Given the description of an element on the screen output the (x, y) to click on. 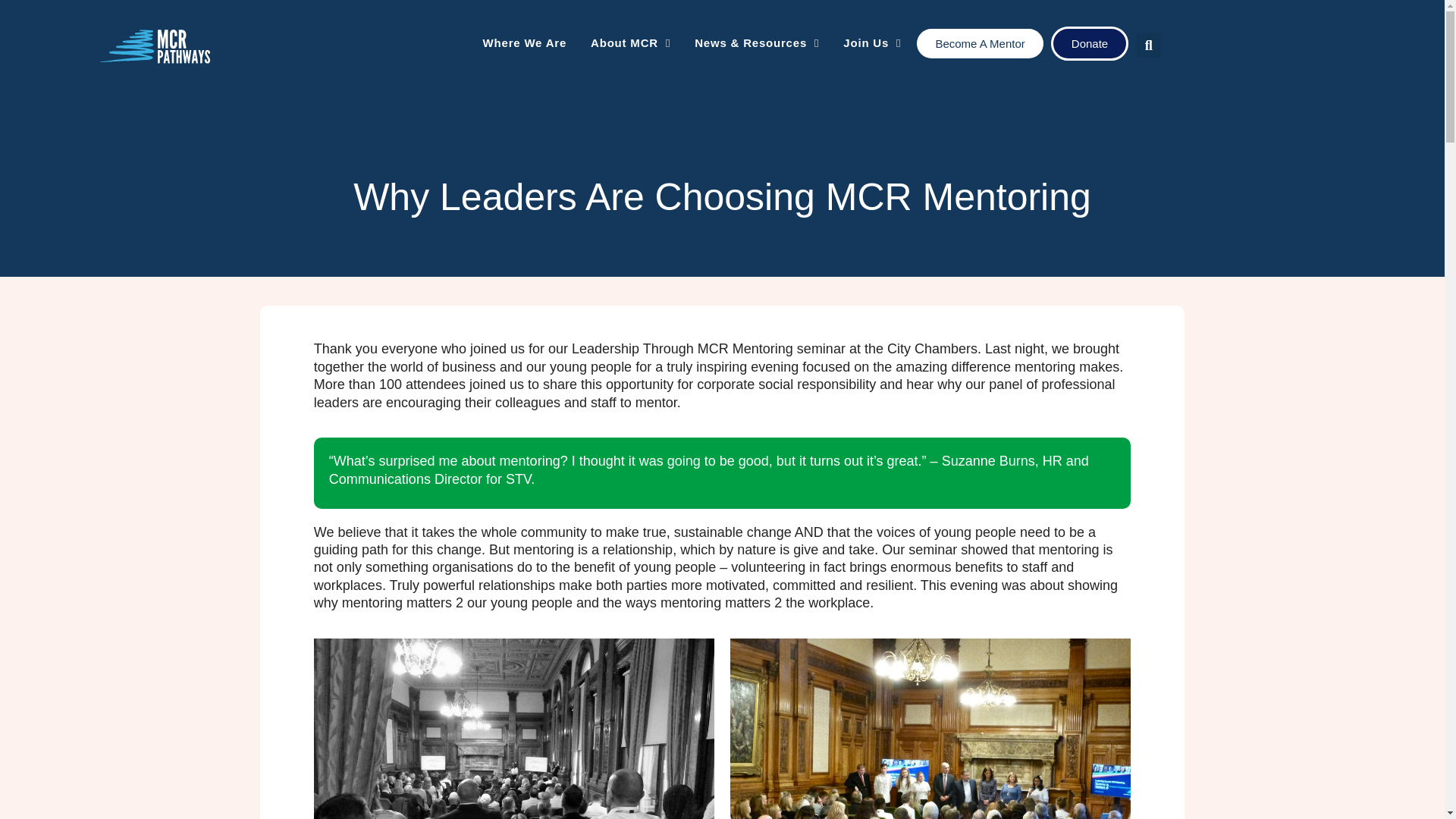
Join Us (871, 43)
Donate (1089, 43)
Where We Are (524, 43)
Become A Mentor (979, 43)
About MCR (630, 43)
